Given the description of an element on the screen output the (x, y) to click on. 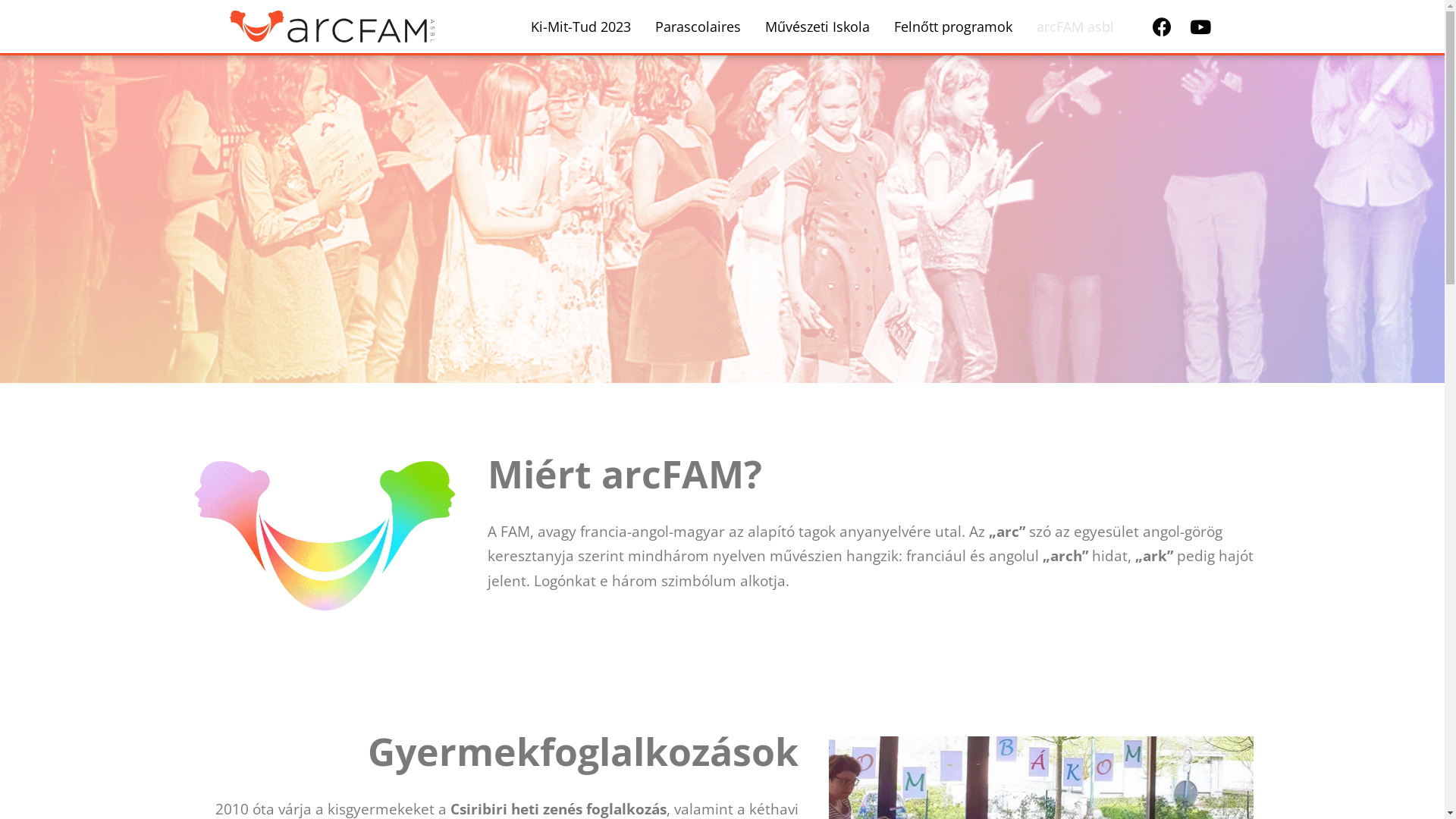
arcFAM asbl Element type: text (1074, 26)
Parascolaires Element type: text (697, 26)
Ki-Mit-Tud 2023 Element type: text (580, 26)
